Given the description of an element on the screen output the (x, y) to click on. 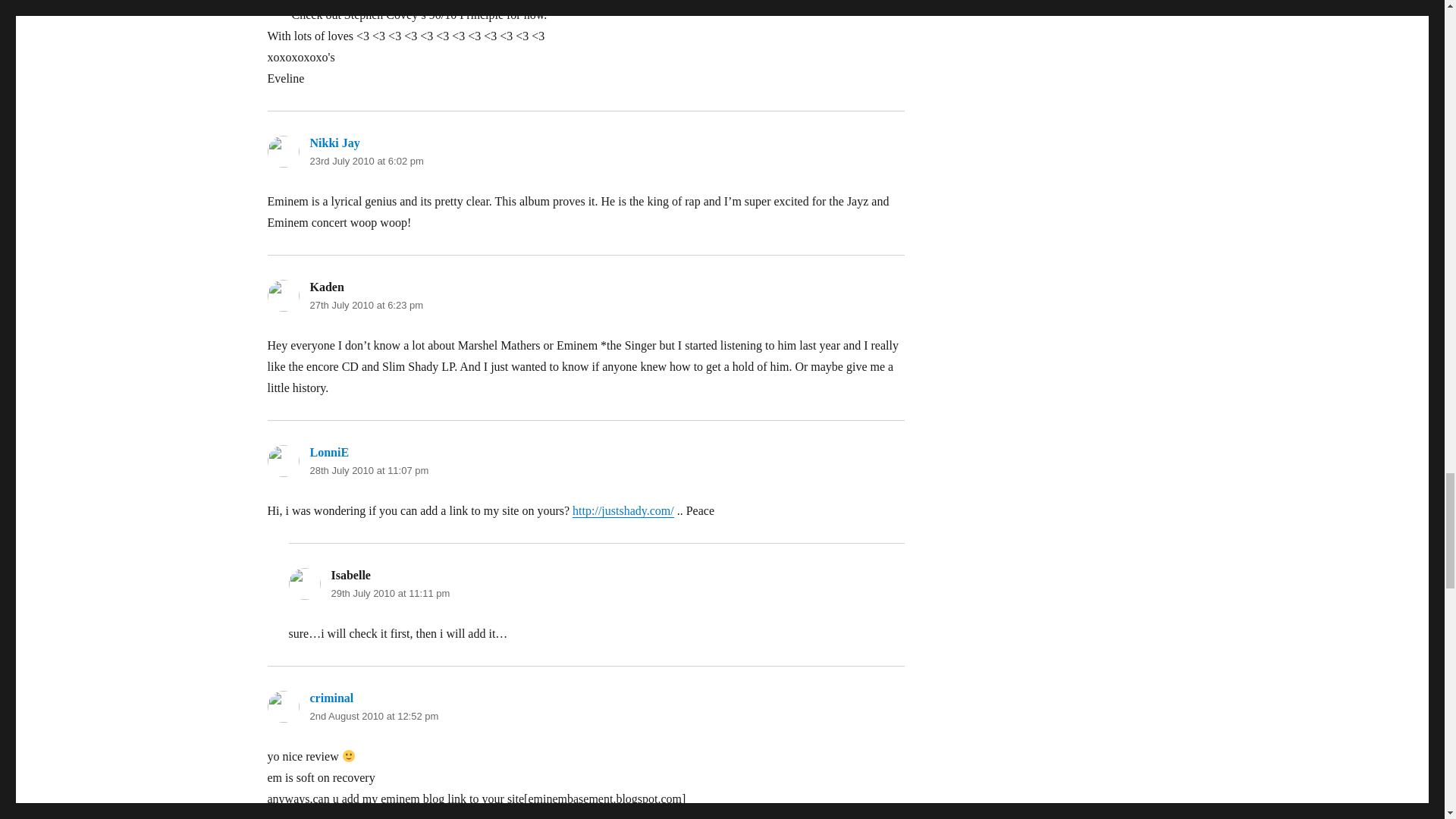
LonniE (328, 451)
23rd July 2010 at 6:02 pm (365, 161)
28th July 2010 at 11:07 pm (368, 470)
criminal (330, 697)
27th July 2010 at 6:23 pm (365, 305)
Nikki Jay (333, 142)
29th July 2010 at 11:11 pm (389, 593)
2nd August 2010 at 12:52 pm (373, 715)
